Given the description of an element on the screen output the (x, y) to click on. 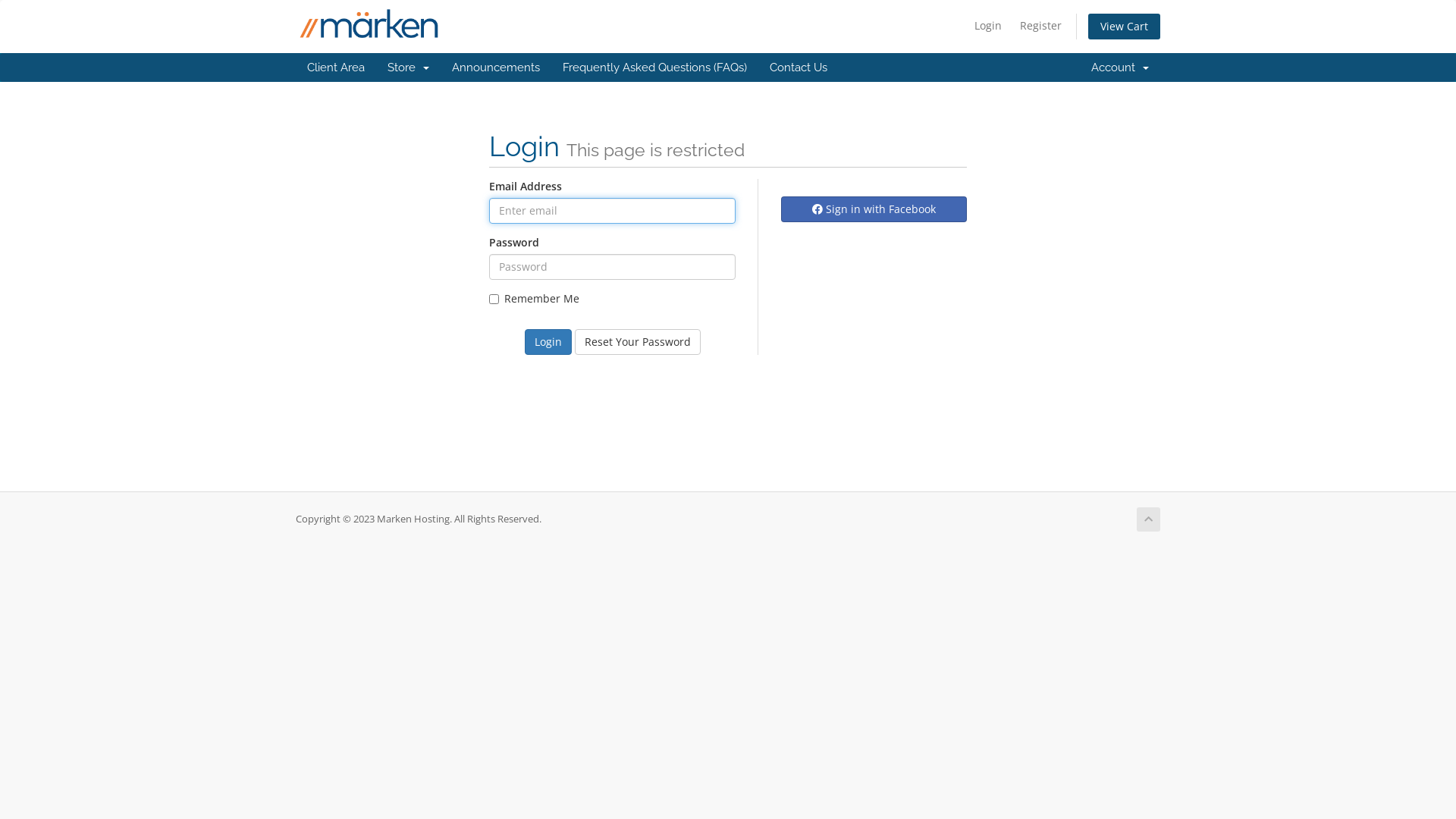
Register Element type: text (1040, 25)
Announcements Element type: text (495, 67)
Store   Element type: text (408, 67)
View Cart Element type: text (1124, 26)
Reset Your Password Element type: text (637, 341)
Frequently Asked Questions (FAQs) Element type: text (654, 67)
Sign in with Facebook Element type: text (873, 209)
Account   Element type: text (1119, 67)
Login Element type: text (987, 25)
Client Area Element type: text (335, 67)
Login Element type: text (547, 341)
Contact Us Element type: text (798, 67)
